Given the description of an element on the screen output the (x, y) to click on. 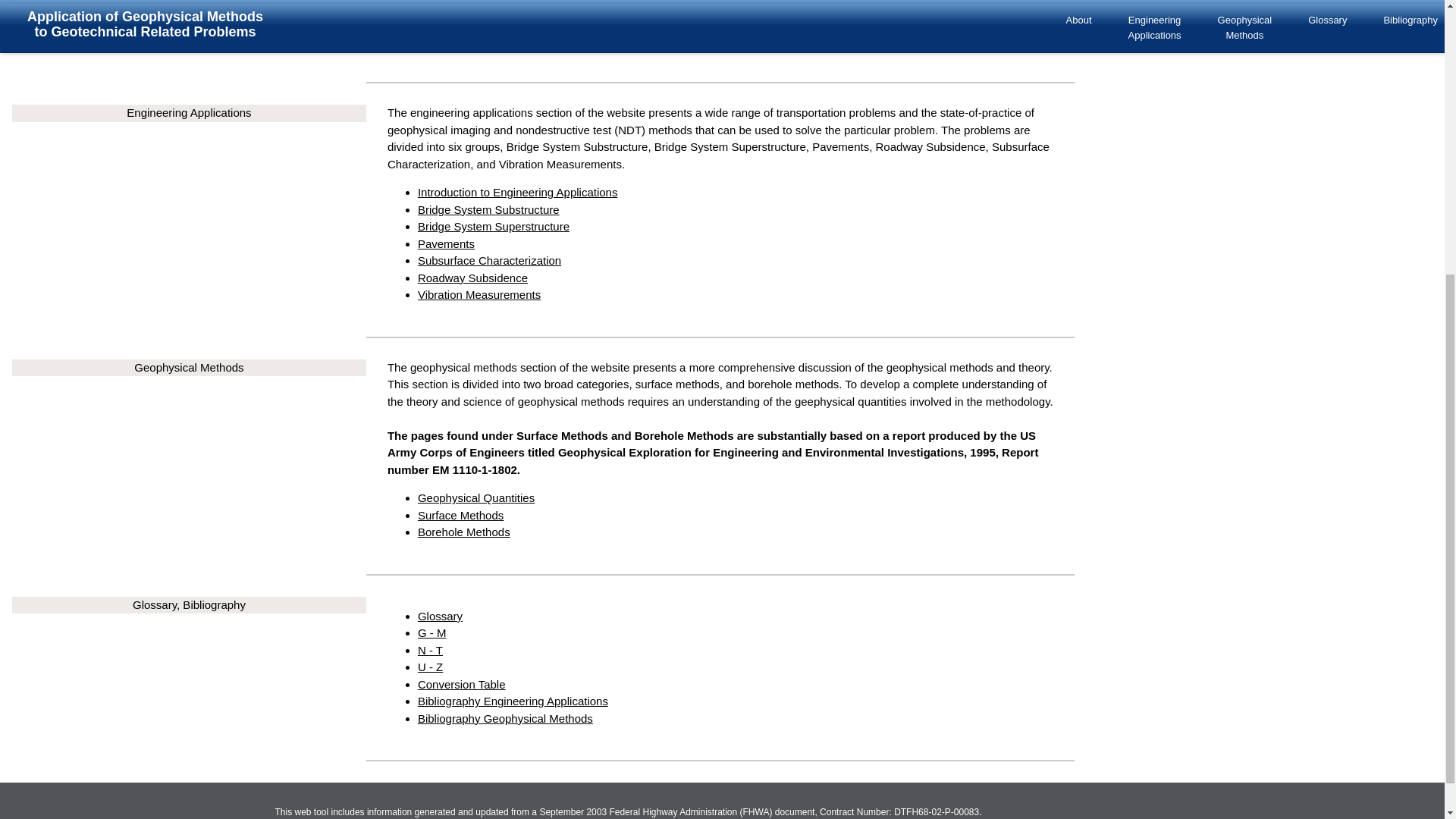
G - M (431, 632)
Bibliography Geophysical Methods (504, 717)
Roadway Subsidence (472, 277)
Surface Methods (460, 514)
U - Z (429, 666)
N - T (429, 649)
Bridge System Superstructure (493, 226)
Evaluation of Appropriate Geophysical Methods (537, 40)
Borehole Methods (464, 531)
Pavements (445, 243)
